Given the description of an element on the screen output the (x, y) to click on. 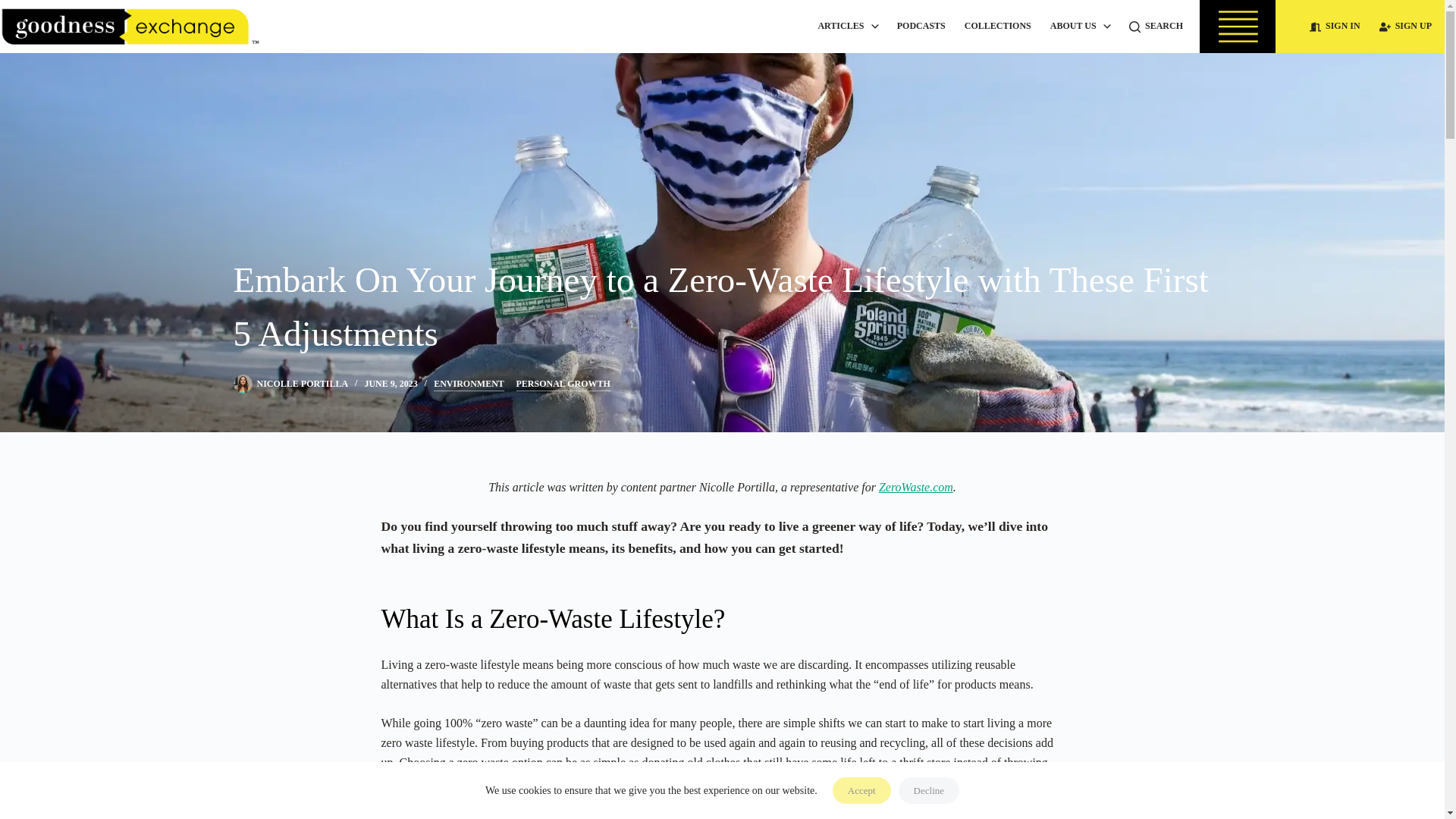
Submit (1073, 545)
Submit (53, 735)
ARTICLES (847, 26)
Decline (928, 790)
Posts by Nicolle Portilla (301, 383)
Accept (861, 790)
Skip to content (15, 7)
